Given the description of an element on the screen output the (x, y) to click on. 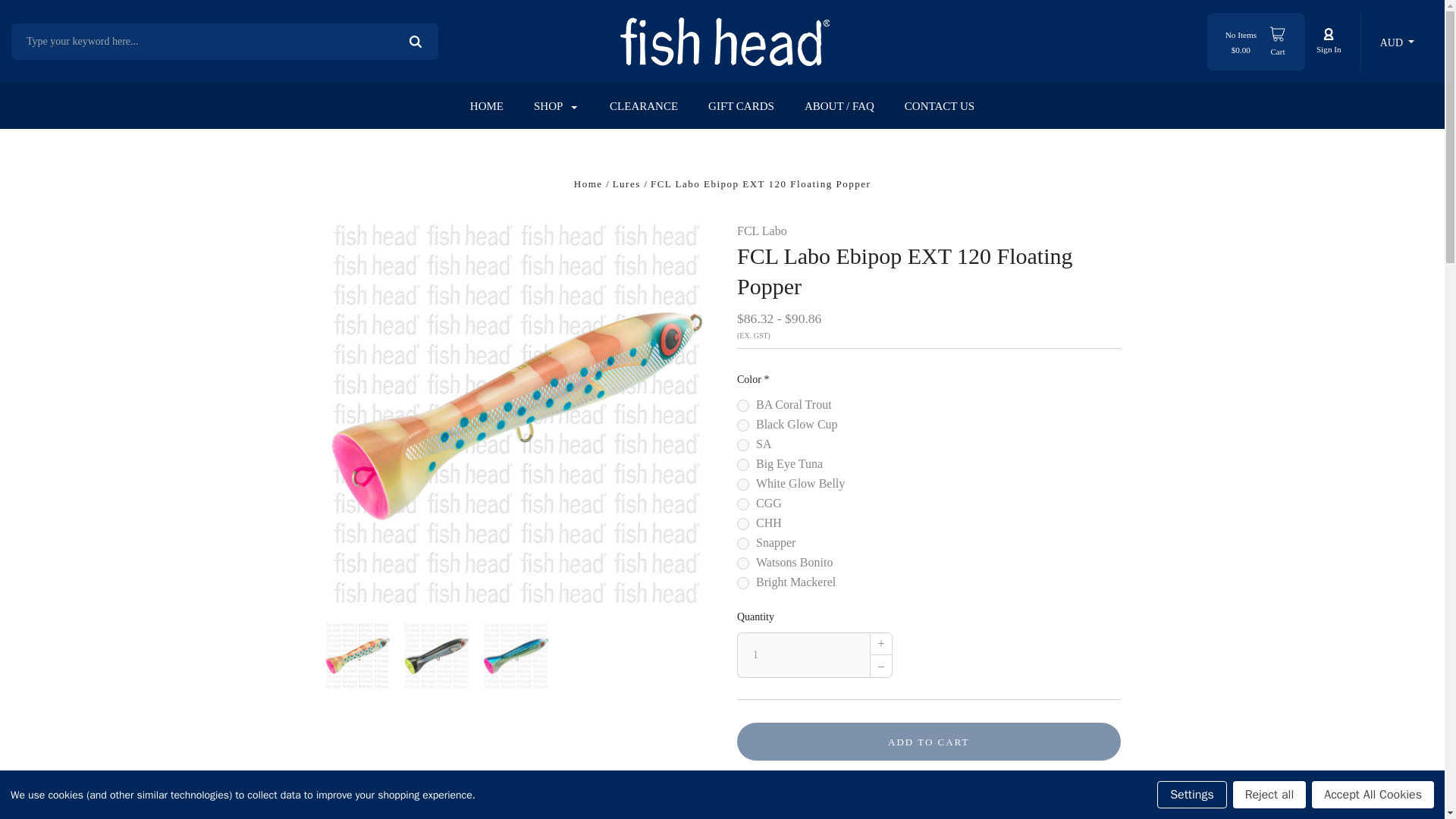
SHOP (555, 105)
10454 (742, 503)
10458 (742, 563)
7245 (742, 464)
10456 (742, 543)
2951 (742, 425)
FCL Labo Ebipop EXT 120 Floating Popper (435, 655)
7500 (742, 405)
10455 (742, 523)
